Given the description of an element on the screen output the (x, y) to click on. 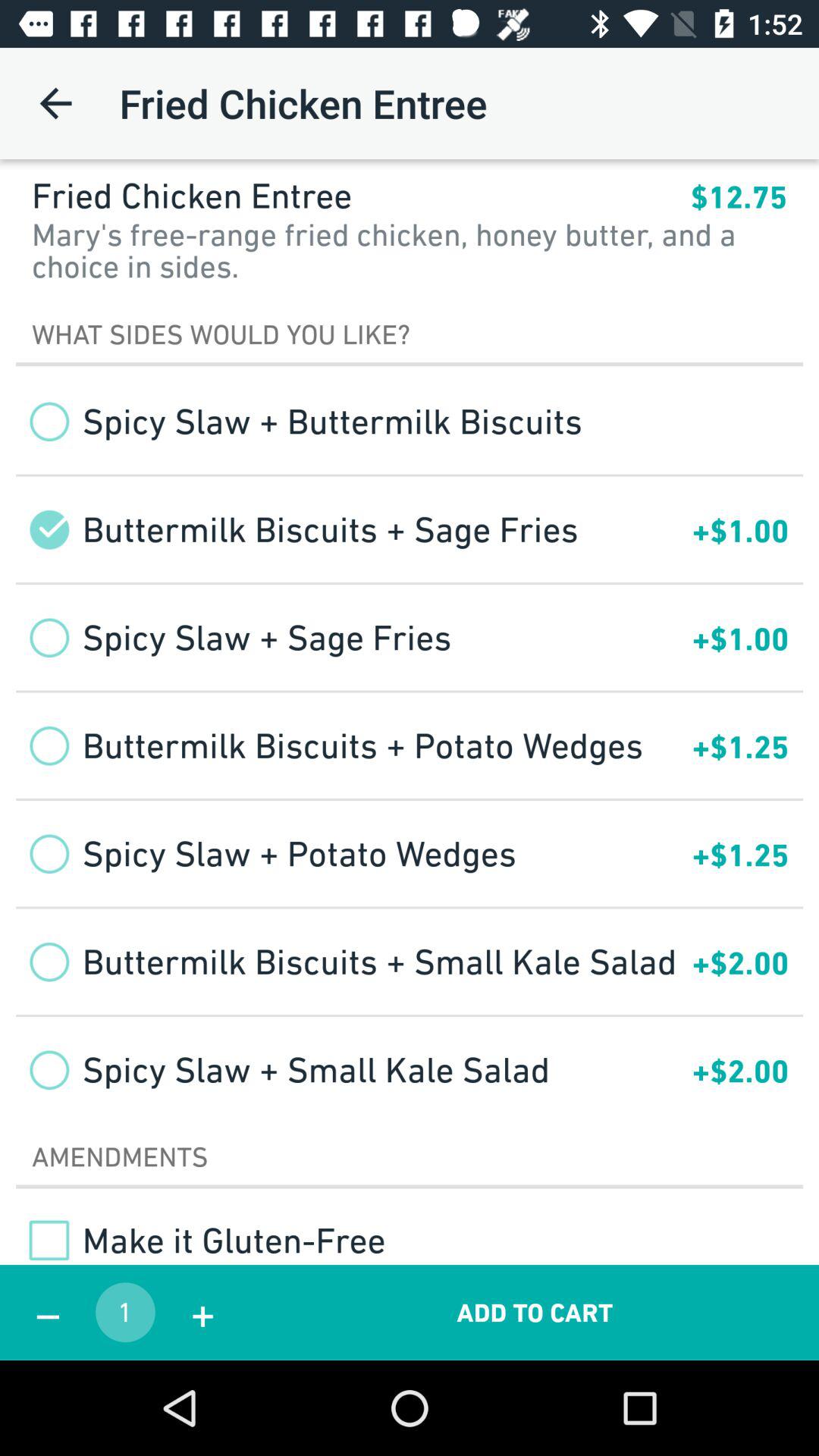
select the icon below make it gluten item (202, 1312)
